Given the description of an element on the screen output the (x, y) to click on. 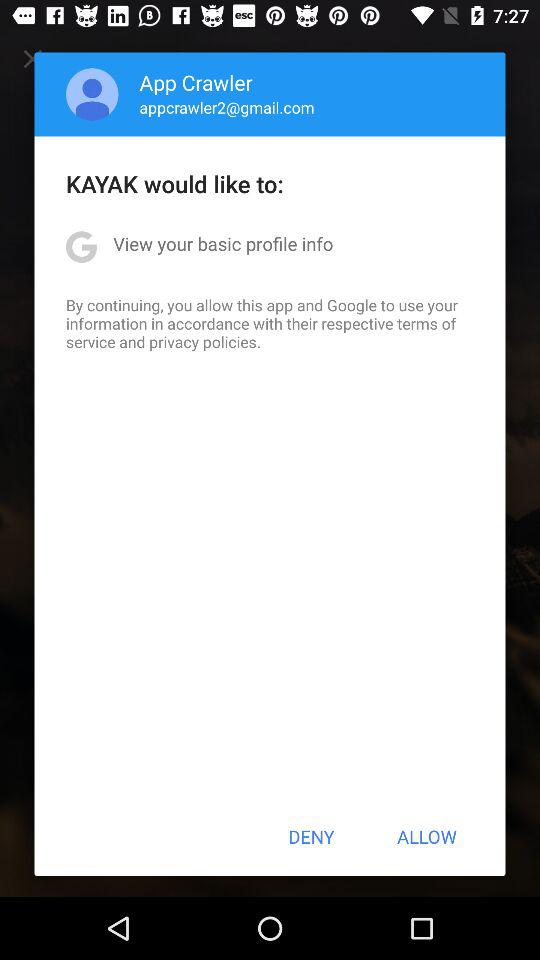
press the deny at the bottom (311, 836)
